Given the description of an element on the screen output the (x, y) to click on. 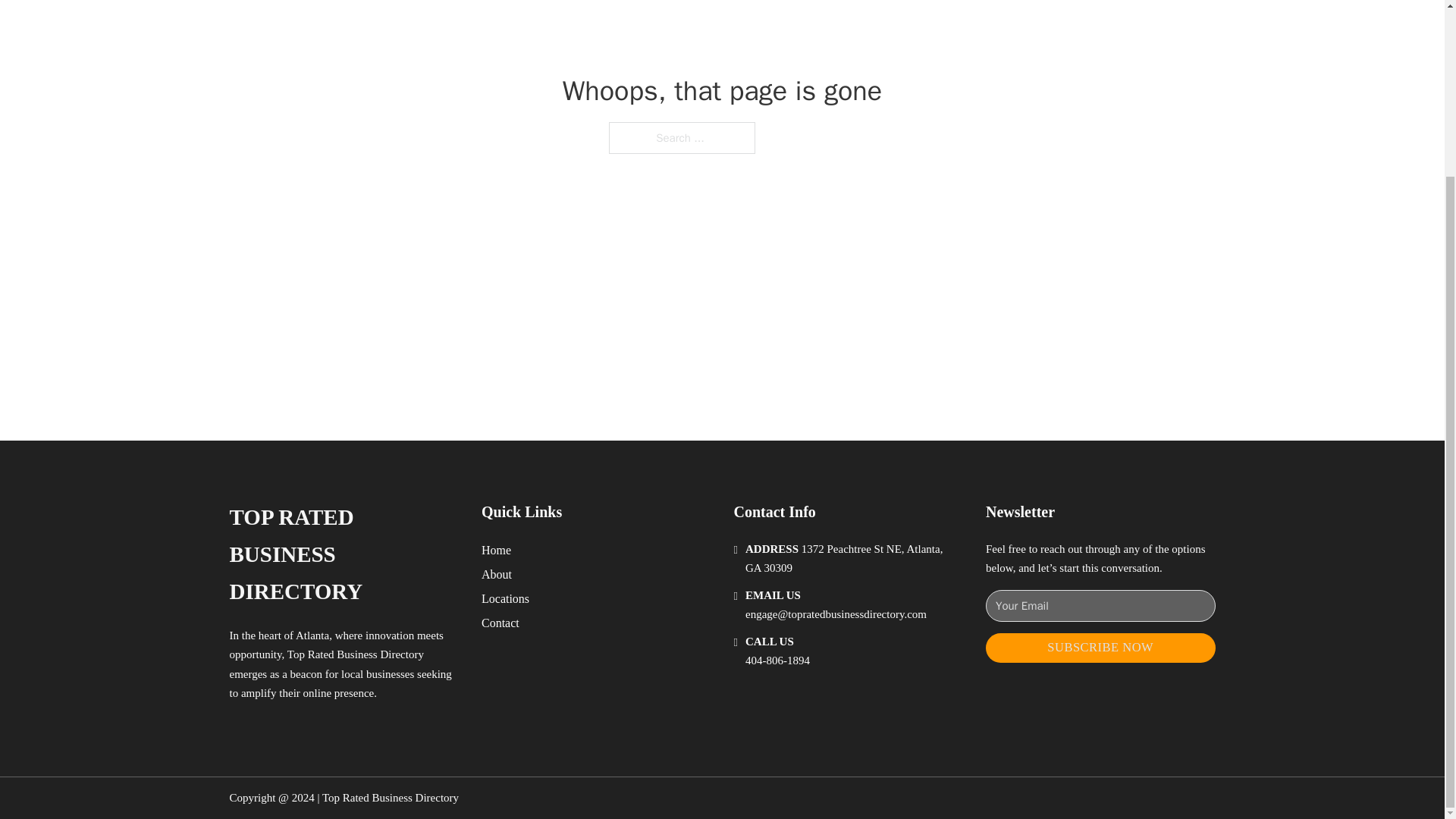
TOP RATED BUSINESS DIRECTORY (343, 554)
Locations (505, 598)
Home (496, 549)
SUBSCRIBE NOW (1100, 647)
404-806-1894 (777, 660)
Contact (500, 622)
About (496, 574)
